Given the description of an element on the screen output the (x, y) to click on. 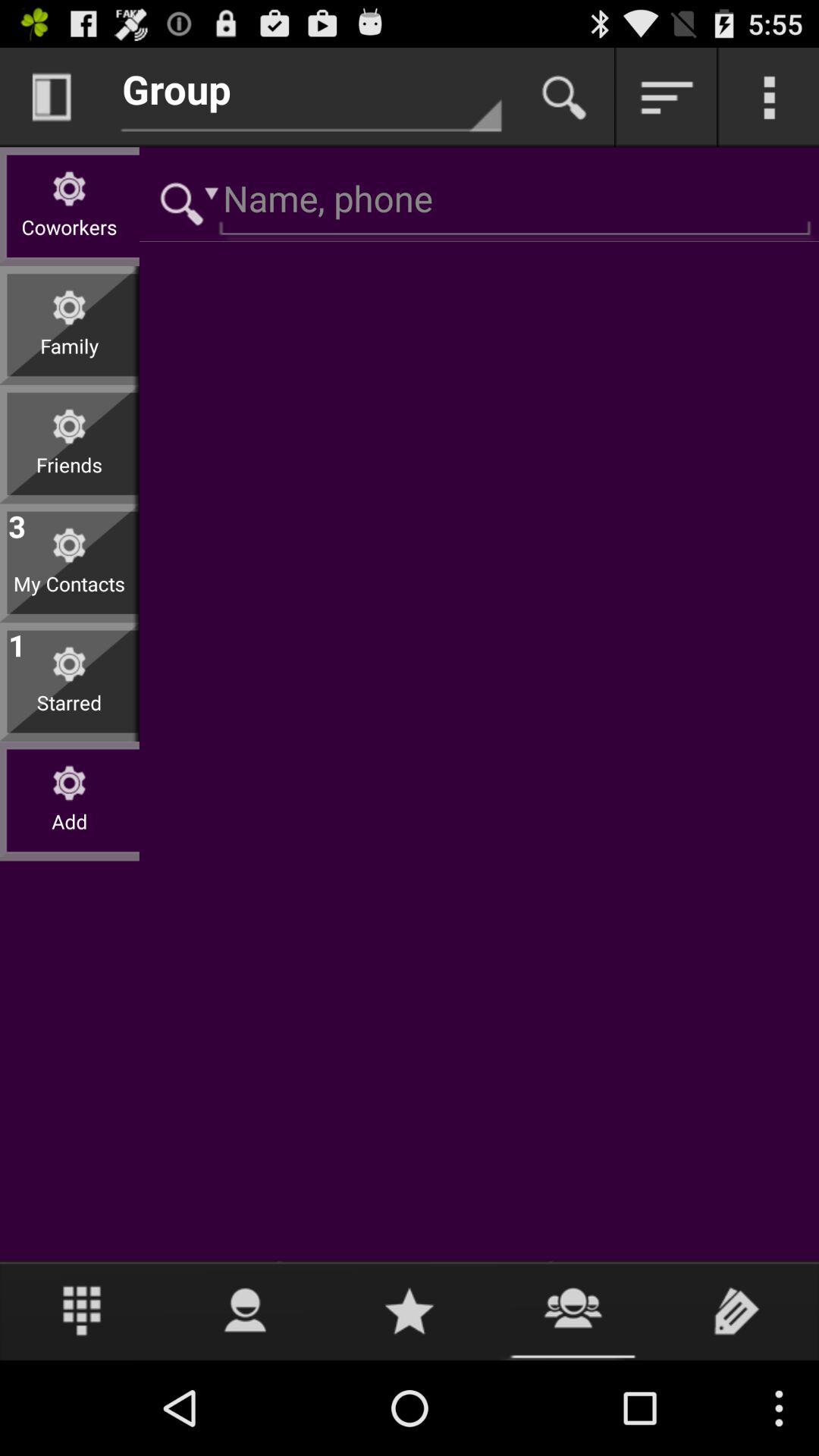
select user (245, 1310)
